Given the description of an element on the screen output the (x, y) to click on. 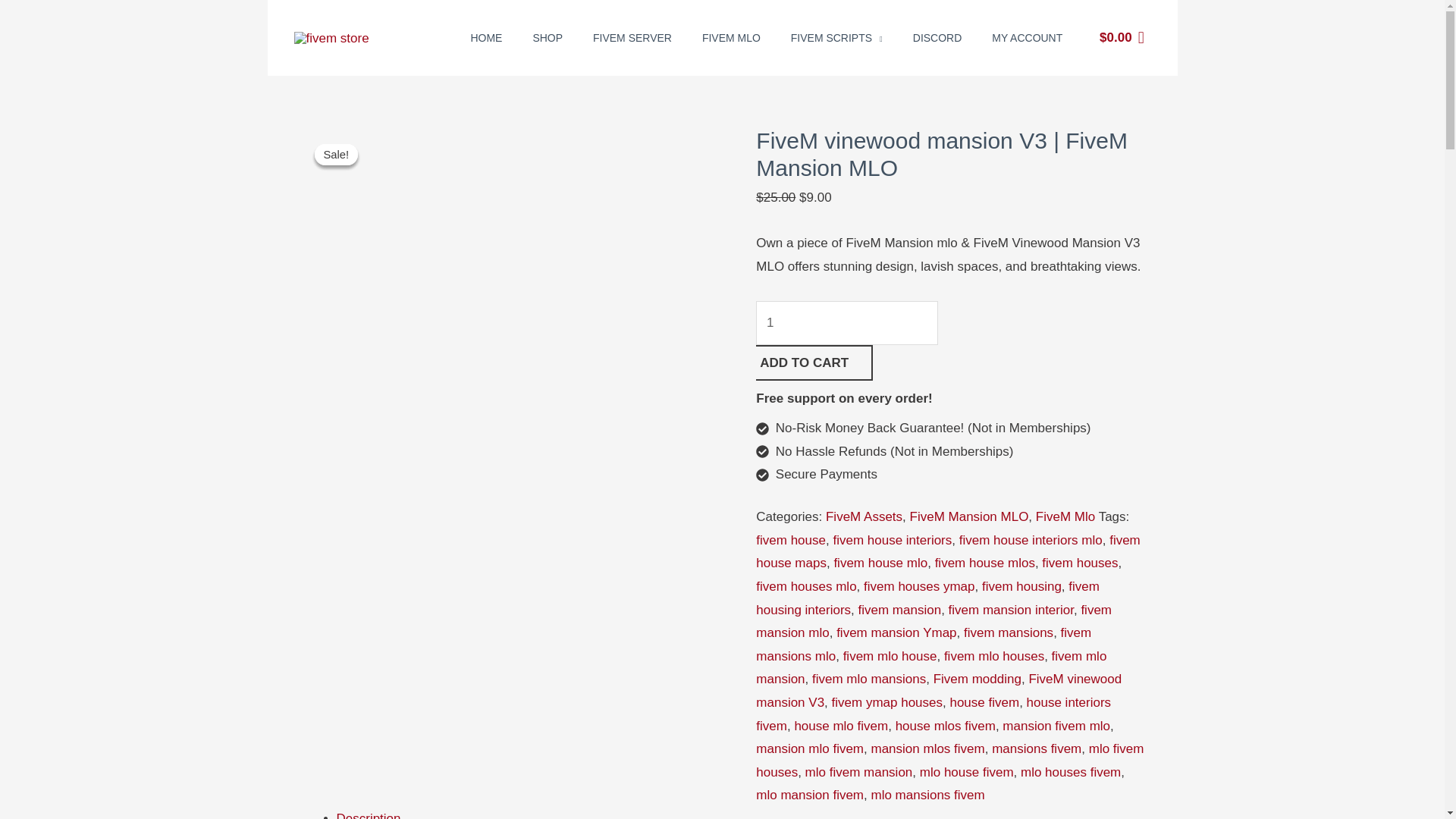
fivem house maps (947, 551)
FiveM Mansion MLO (969, 516)
MY ACCOUNT (1026, 38)
DISCORD (937, 38)
FIVEM SERVER (632, 38)
FIVEM SCRIPTS (837, 38)
fivem house interiors mlo (1030, 540)
FiveM Mlo (1064, 516)
FIVEM MLO (731, 38)
fivem house interiors (892, 540)
